Given the description of an element on the screen output the (x, y) to click on. 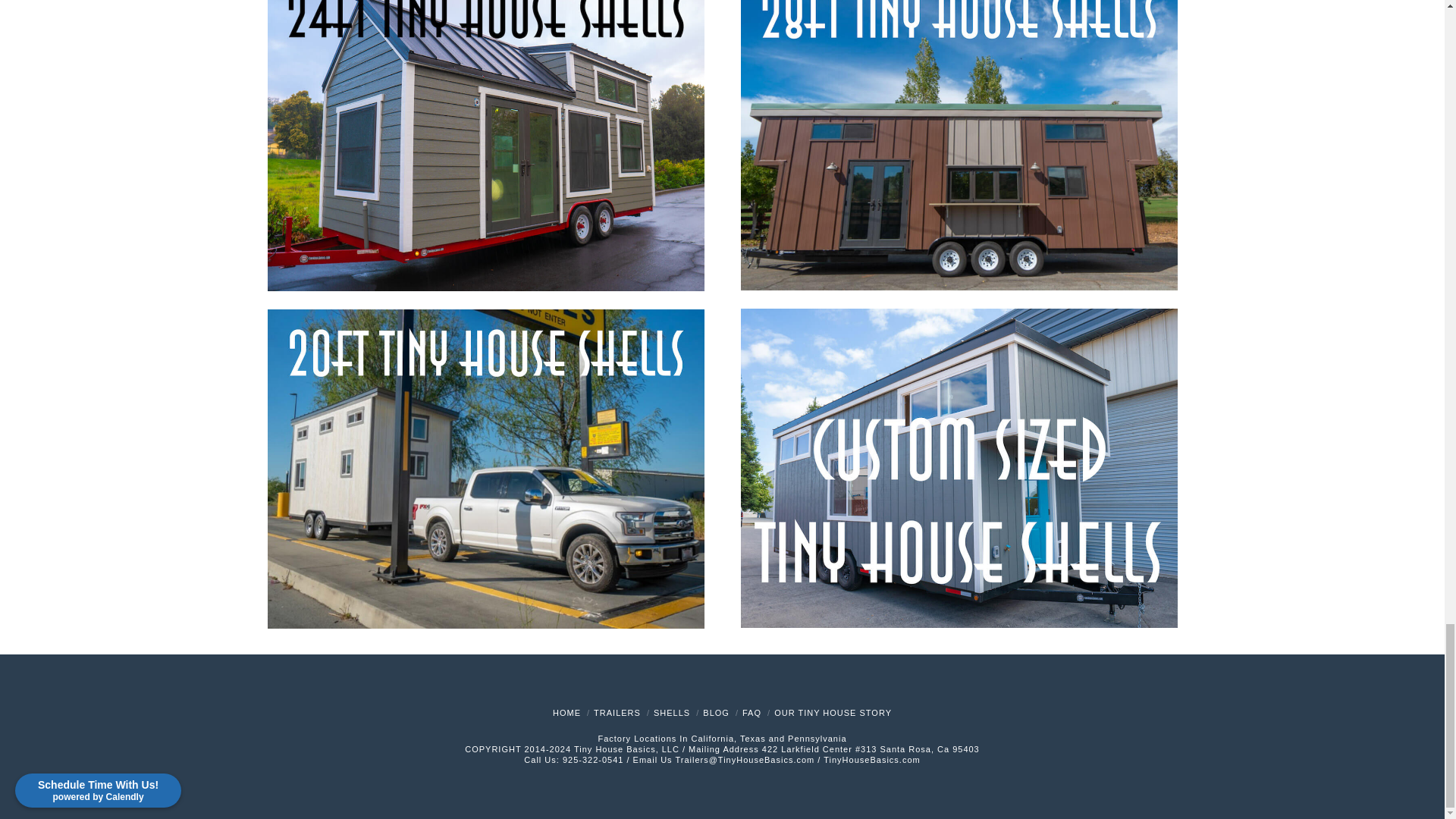
TRAILERS (617, 712)
HOME (566, 712)
